Given the description of an element on the screen output the (x, y) to click on. 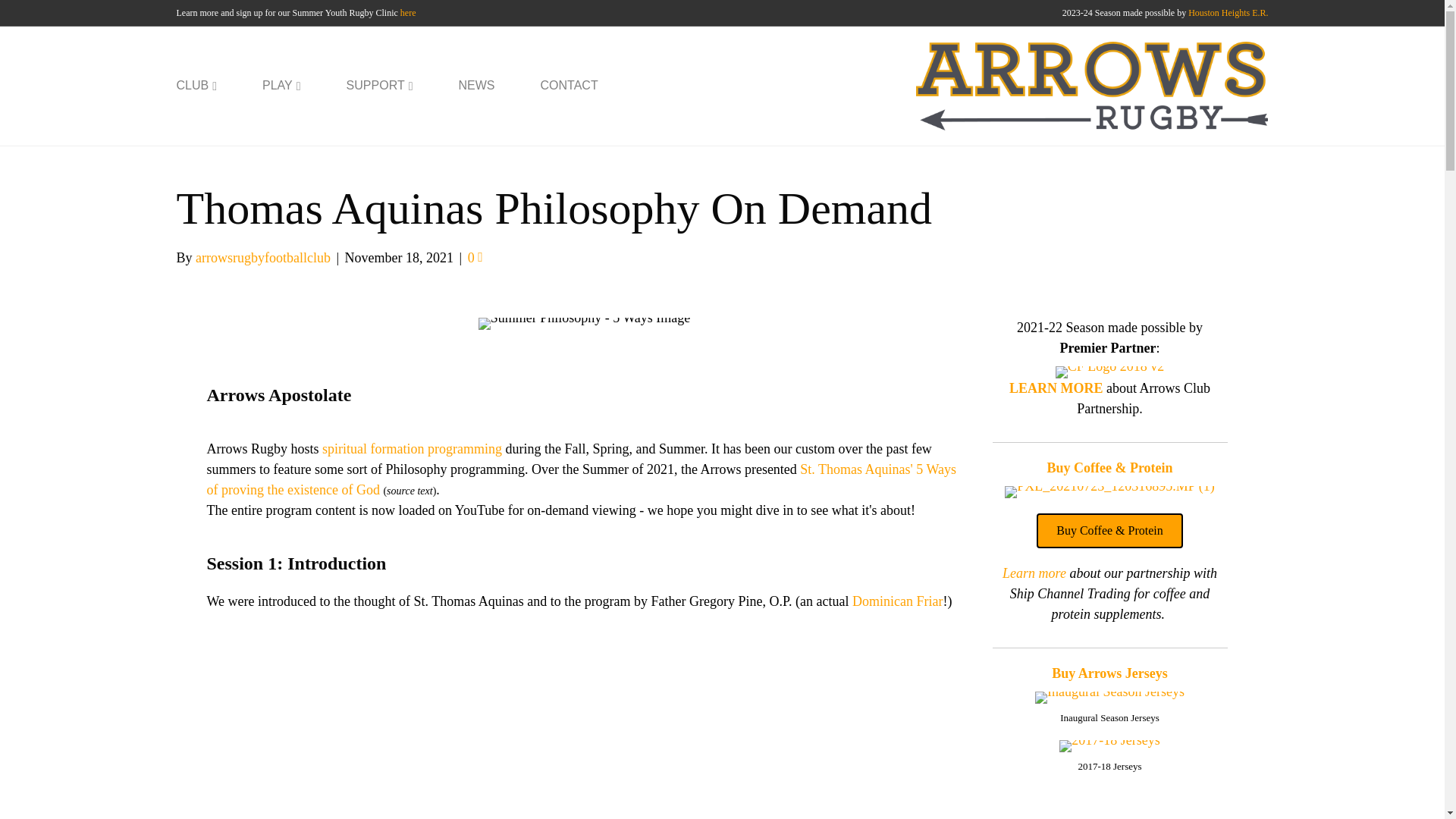
SUPPORT (379, 86)
Houston Heights E.R. (1228, 12)
St. Thomas Aquinas' 5 Ways of proving the existence of God (581, 479)
Dominican Friar (896, 601)
0 (475, 257)
here (408, 12)
YouTube video player (418, 726)
arrowsrugbyfootballclub (262, 257)
NEWS (476, 85)
LEARN MORE (1056, 387)
